Given the description of an element on the screen output the (x, y) to click on. 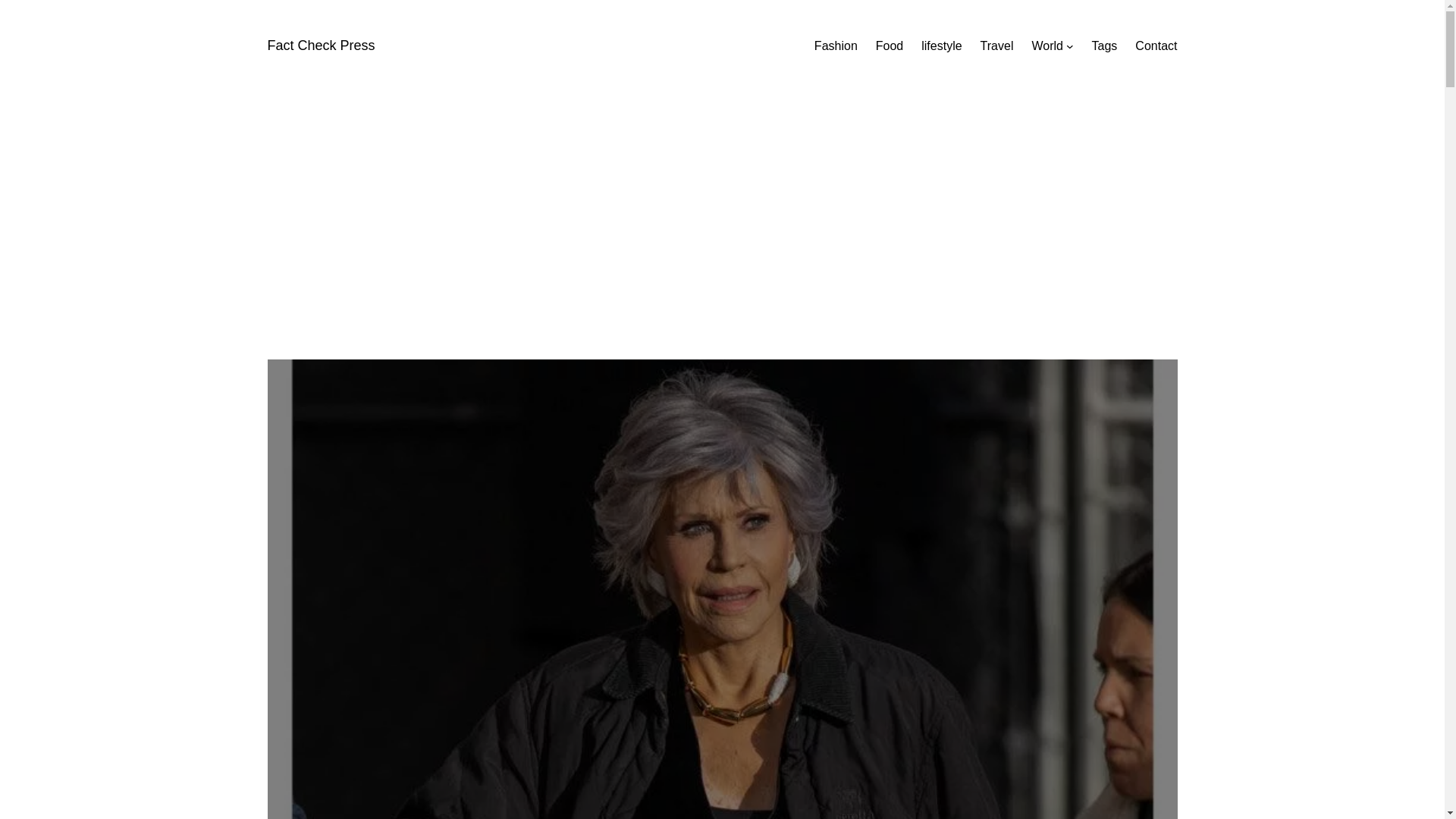
Fashion (835, 46)
World (1046, 46)
Food (889, 46)
lifestyle (940, 46)
Tags (1105, 46)
Travel (996, 46)
Fact Check Press (320, 45)
Contact (1155, 46)
